Given the description of an element on the screen output the (x, y) to click on. 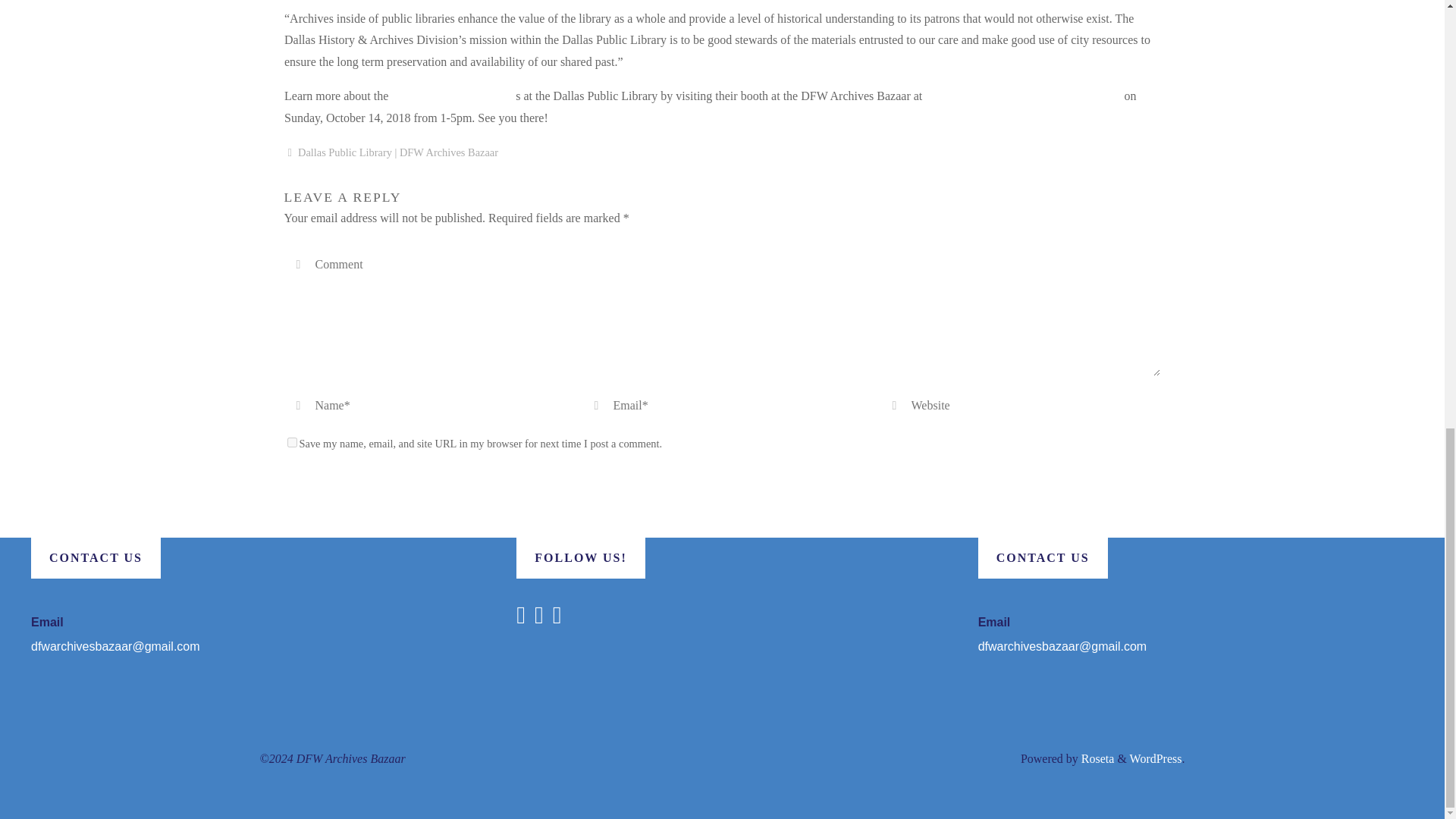
Semantic Personal Publishing Platform (1155, 758)
yes (291, 442)
Dallas Heritage Village at Old City Park (1022, 95)
Post Comment (344, 480)
Post Comment (344, 480)
Dallas Public Library (344, 152)
DFW Archives Bazaar (447, 152)
Roseta WordPress Theme by Cryout Creations (1096, 758)
